Given the description of an element on the screen output the (x, y) to click on. 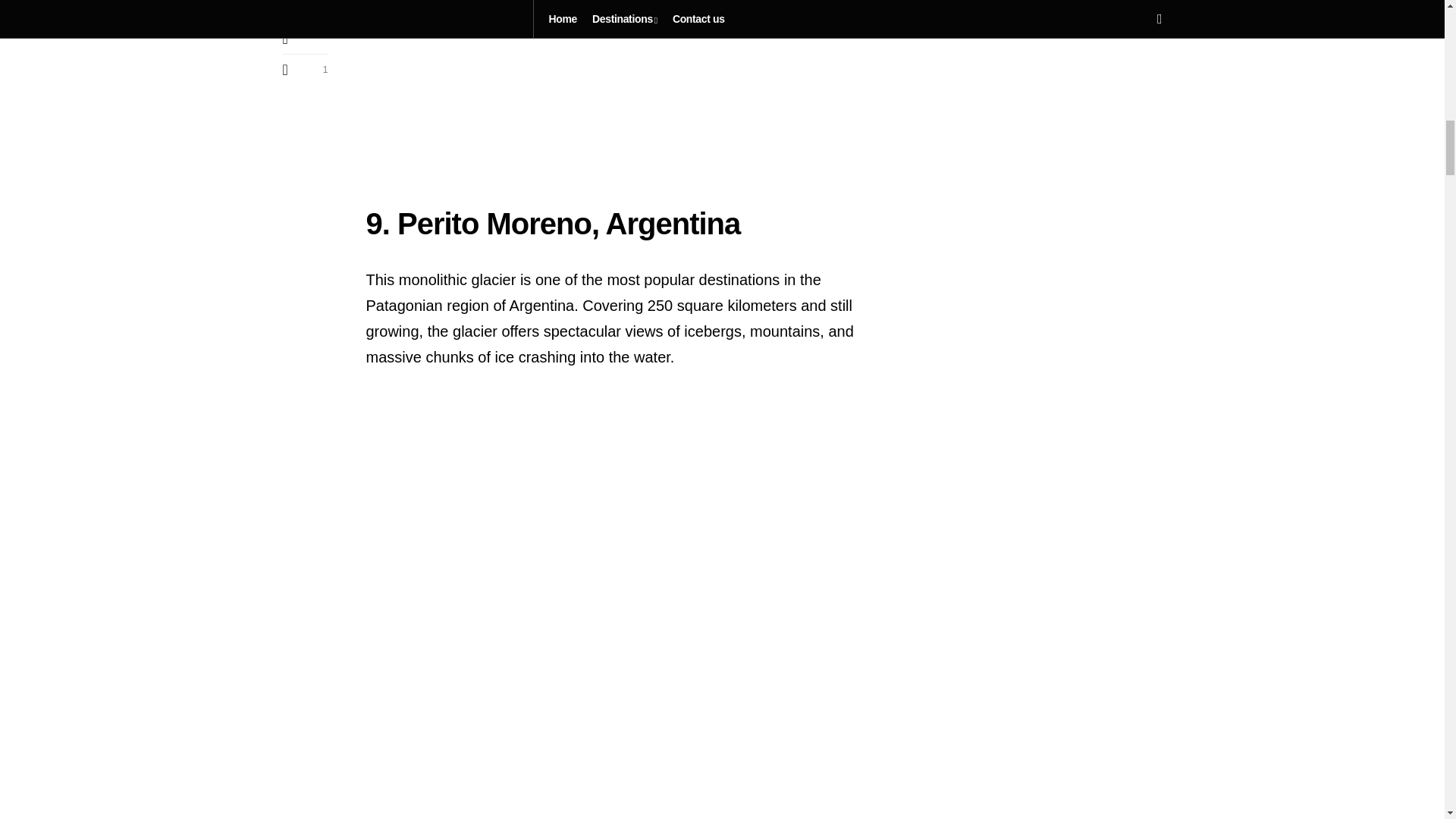
Top 10 Natural Wonders of South America You Must Visit 9 (622, 790)
Top 10 Natural Wonders of South America You Must Visit 7 (622, 78)
